Given the description of an element on the screen output the (x, y) to click on. 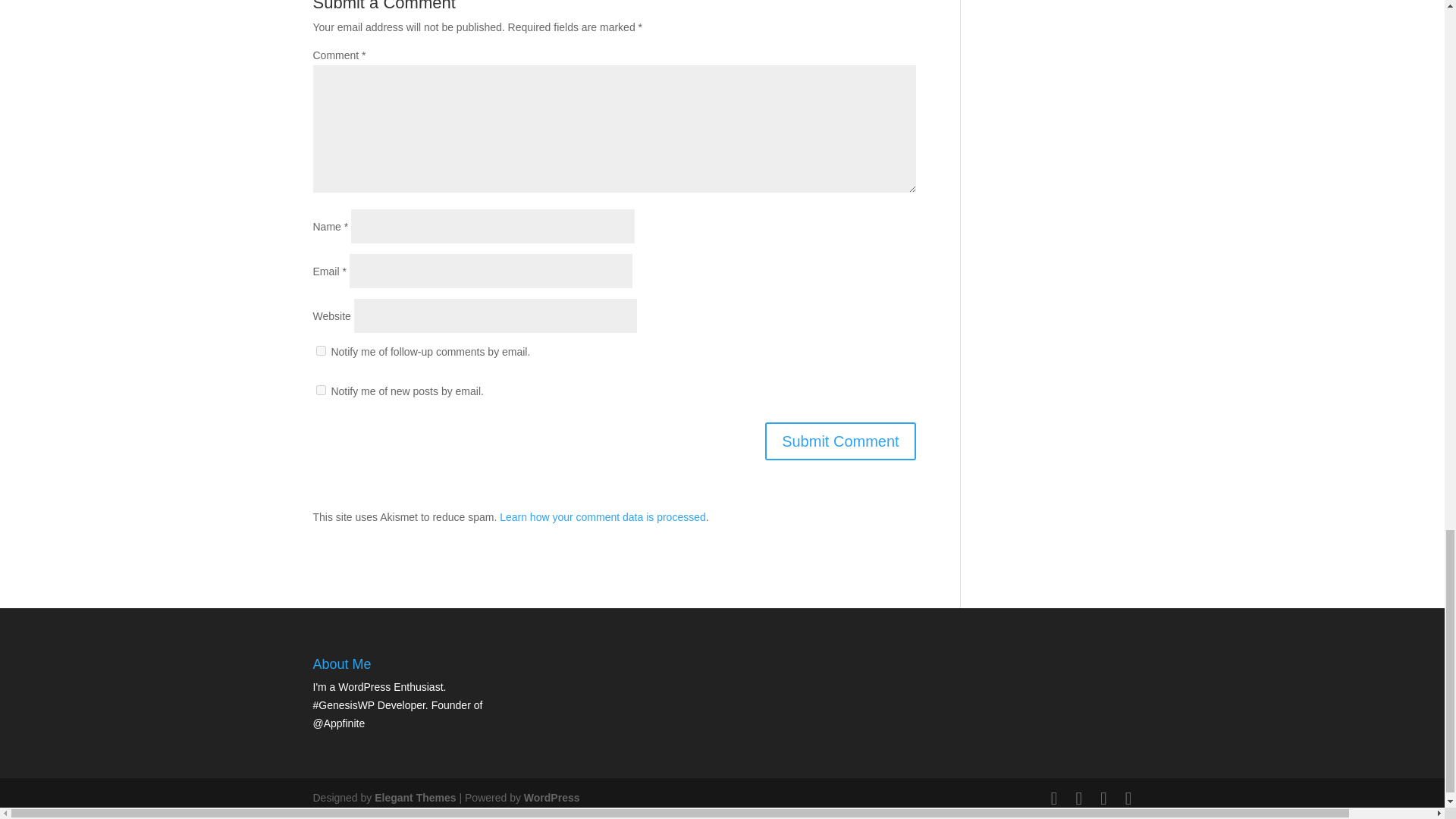
WordPress (551, 797)
Elegant Themes (414, 797)
Submit Comment (840, 441)
Submit Comment (840, 441)
subscribe (319, 389)
Learn how your comment data is processed (602, 517)
subscribe (319, 350)
Premium WordPress Themes (414, 797)
